Given the description of an element on the screen output the (x, y) to click on. 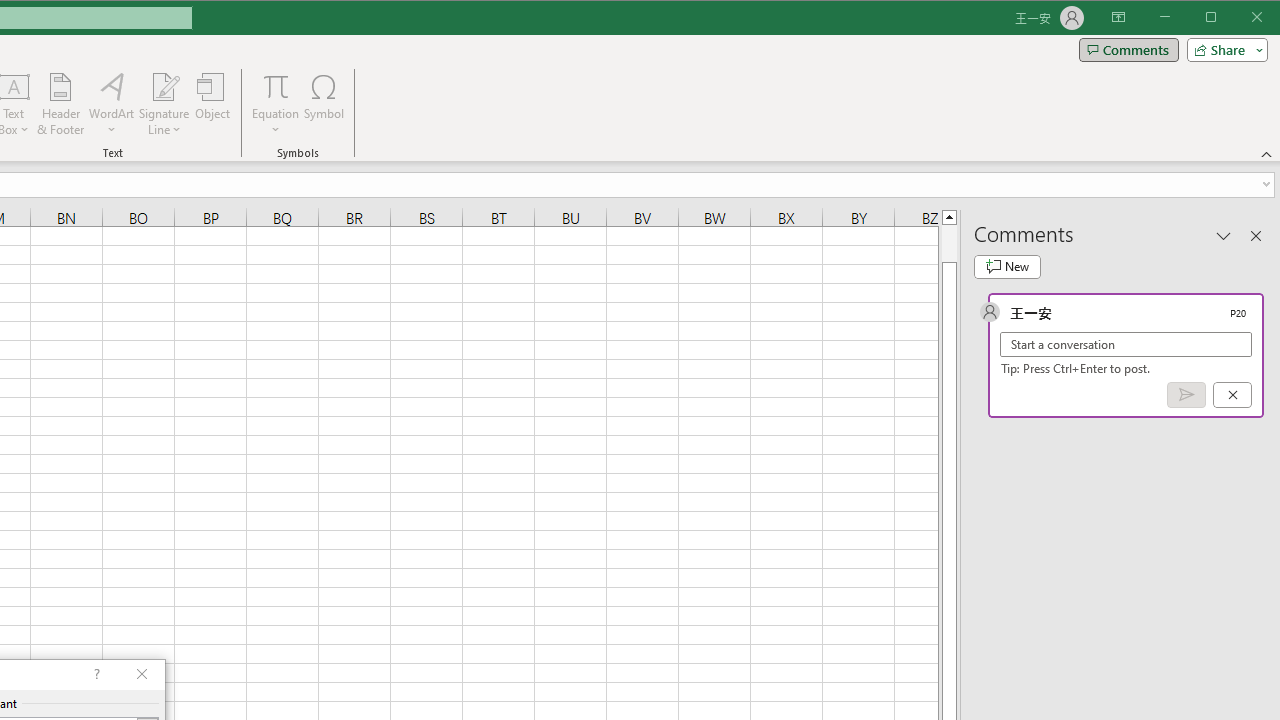
Equation (275, 86)
Header & Footer... (60, 104)
Cancel (1232, 395)
Object... (213, 104)
Start a conversation (1126, 344)
WordArt (111, 104)
New comment (1007, 266)
Equation (275, 104)
